Given the description of an element on the screen output the (x, y) to click on. 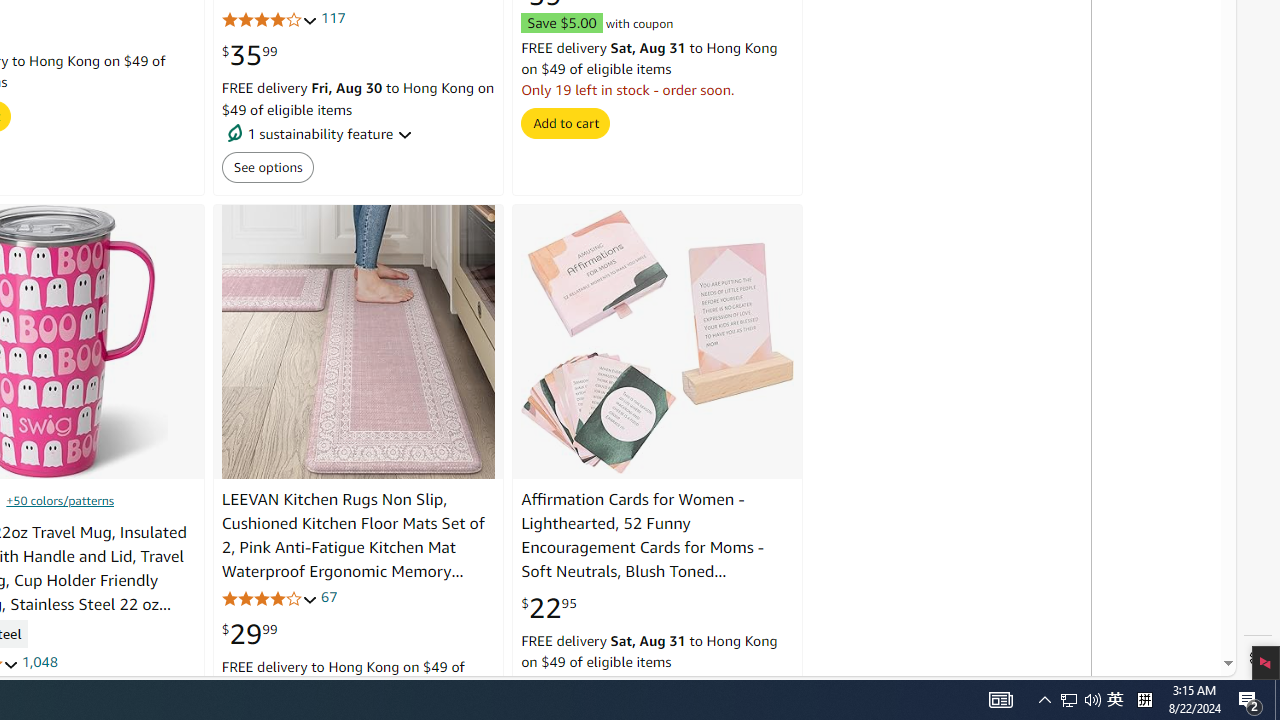
 1 sustainability feature (358, 133)
Add to cart (566, 123)
See options (267, 167)
1,048 (38, 661)
117 (332, 18)
4.2 out of 5 stars (269, 20)
67 (328, 596)
$22.95 (548, 607)
$35.99 (249, 56)
3.9 out of 5 stars (269, 598)
